Given the description of an element on the screen output the (x, y) to click on. 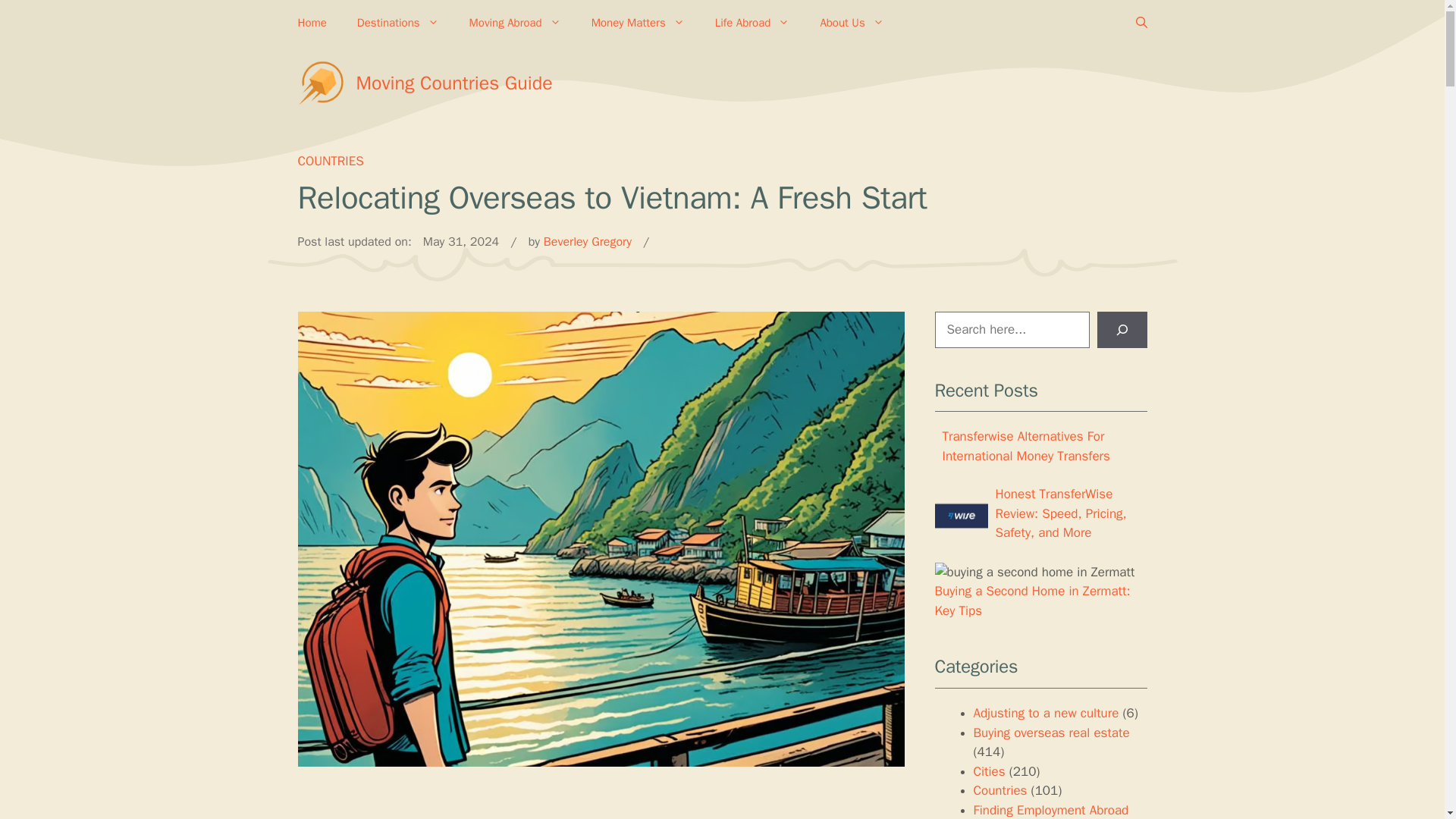
Destinations (398, 22)
Life Abroad (752, 22)
COUNTRIES (329, 160)
Moving Abroad (515, 22)
About Us (851, 22)
Moving Countries Guide (454, 83)
Home (311, 22)
Beverley Gregory (587, 241)
Money Matters (638, 22)
